Given the description of an element on the screen output the (x, y) to click on. 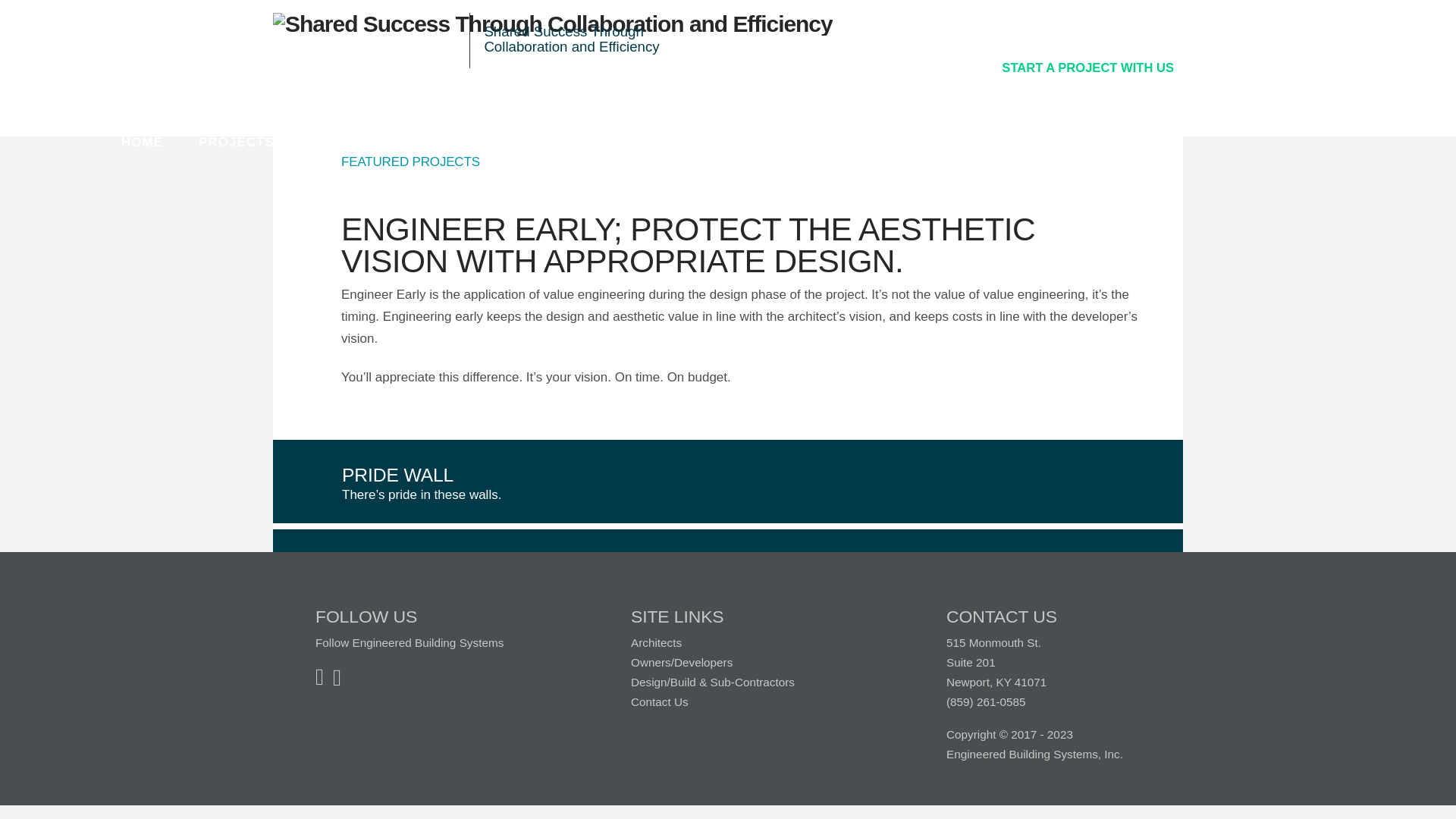
PROJECTS (236, 142)
MARKETS (450, 142)
SERVICES (345, 142)
CAREERS (664, 142)
Shared Success Through Collaboration and Efficiency (552, 23)
START A PROJECT WITH US (1087, 67)
HOME (141, 142)
Architects (655, 642)
ABOUT US (557, 142)
